Given the description of an element on the screen output the (x, y) to click on. 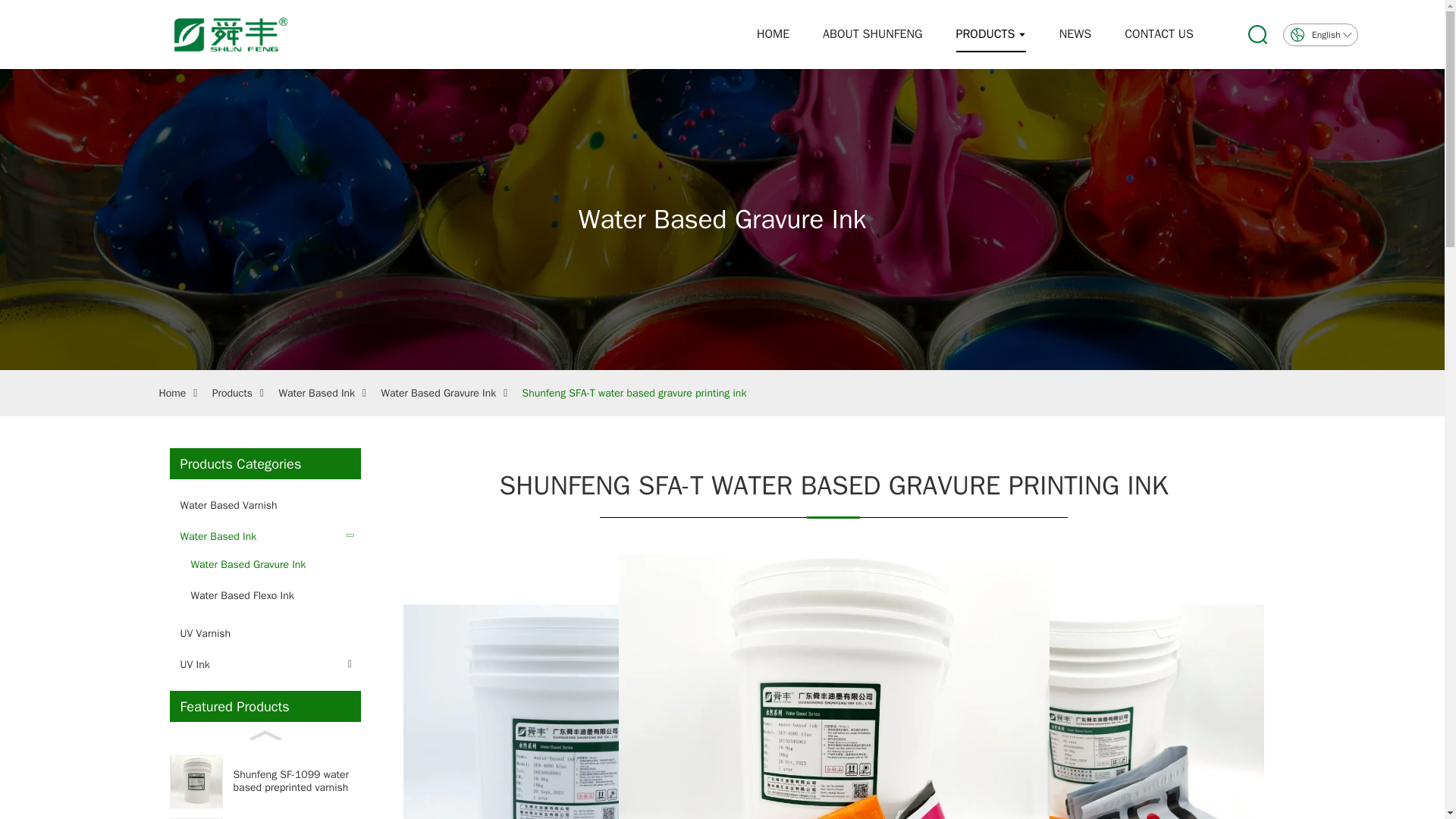
products (990, 34)
About Shunfeng (871, 34)
ABOUT SHUNFENG (871, 34)
CONTACT US (1158, 34)
Contact Us (1158, 34)
logo (197, 34)
PRODUCTS (990, 34)
